Given the description of an element on the screen output the (x, y) to click on. 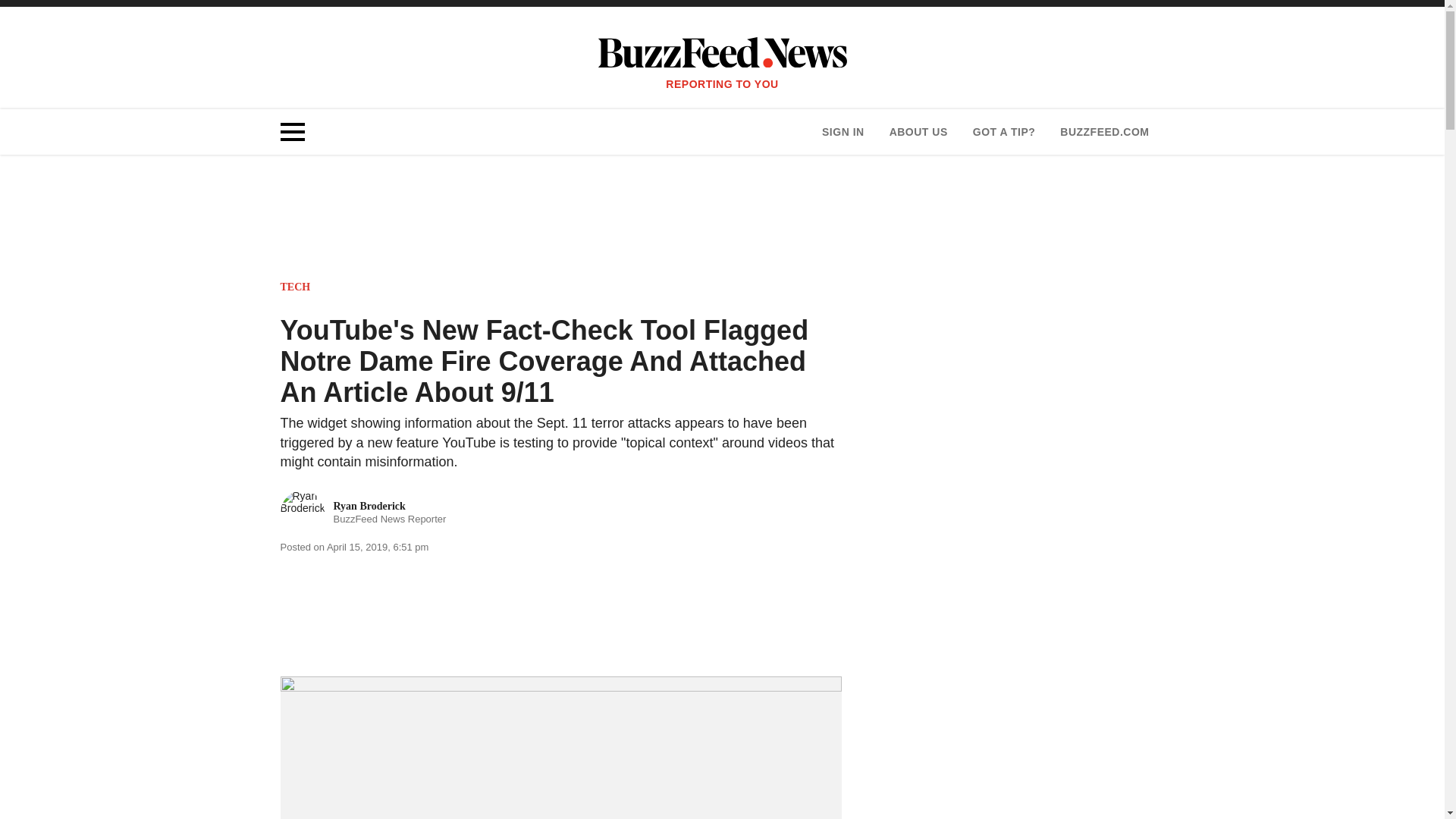
TECH (296, 286)
BUZZFEED.COM (1103, 131)
SIGN IN (842, 131)
ABOUT US (917, 131)
GOT A TIP? (363, 512)
